Given the description of an element on the screen output the (x, y) to click on. 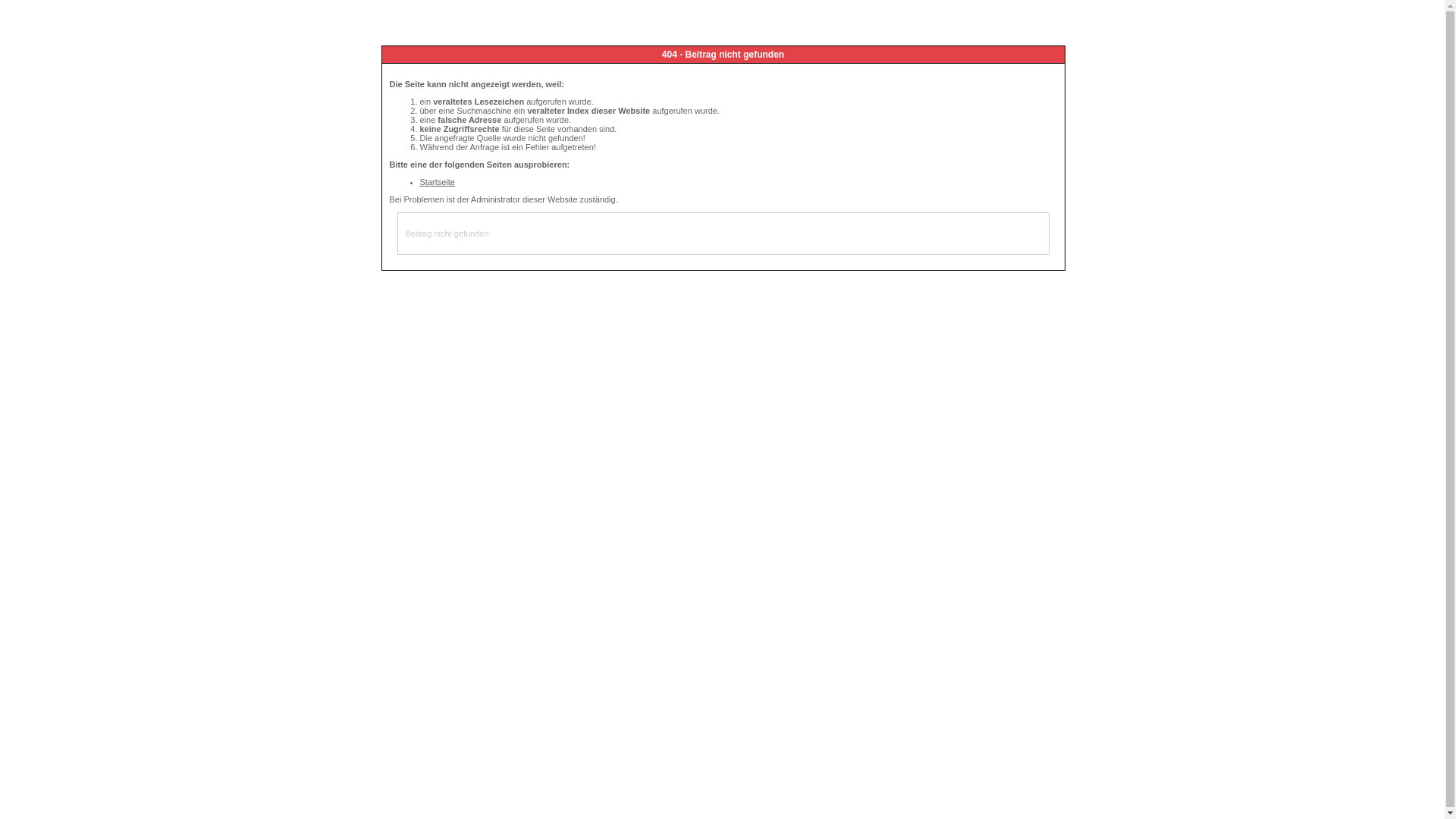
Startseite Element type: text (437, 181)
